Given the description of an element on the screen output the (x, y) to click on. 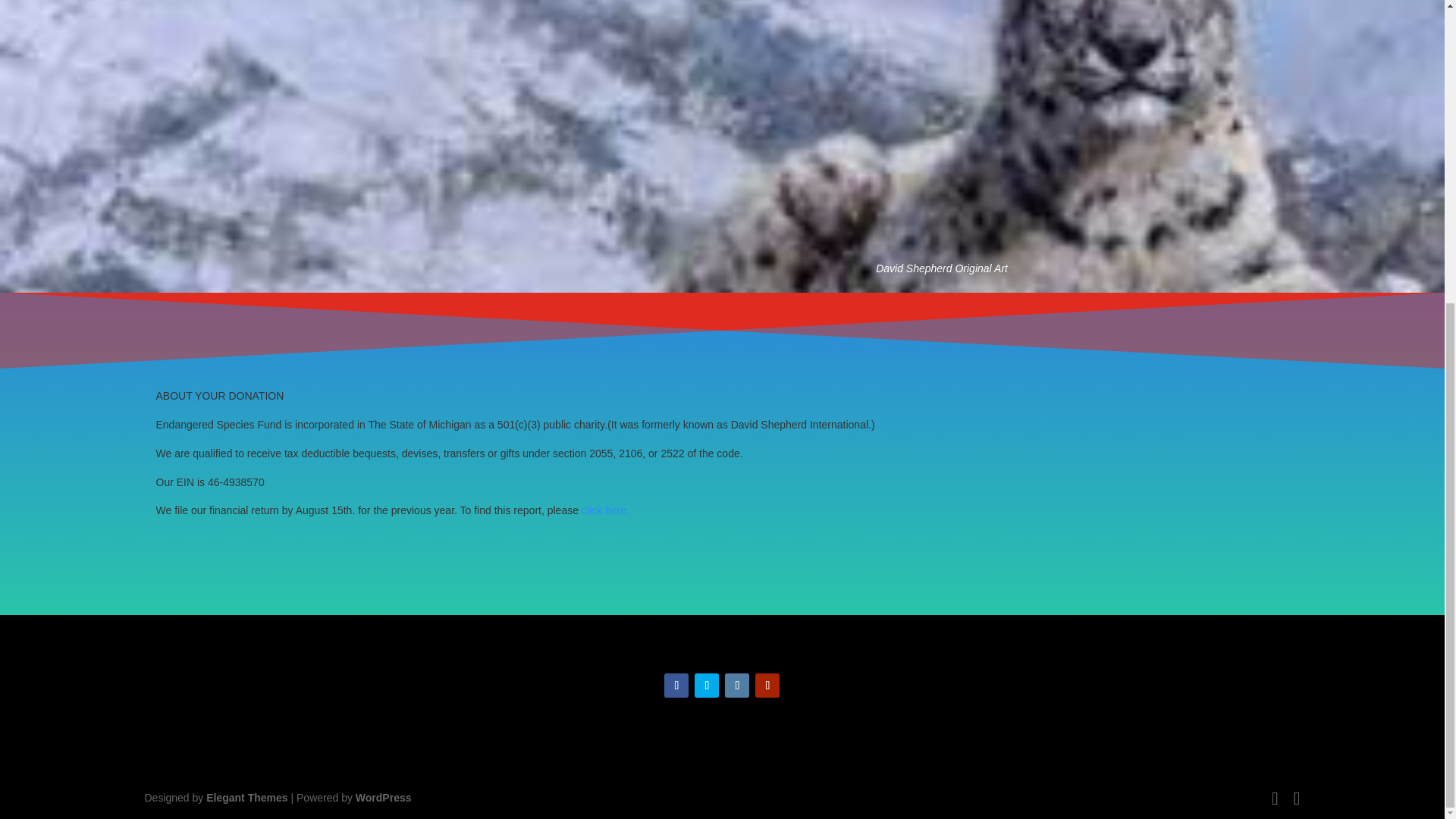
Follow on Facebook (675, 685)
Follow on Youtube (766, 685)
Elegant Themes (246, 797)
David Shepherd Original Art (941, 268)
Guidestar (604, 510)
Follow on Twitter (706, 685)
WordPress (383, 797)
click here. (604, 510)
Premium WordPress Themes (246, 797)
Follow on Instagram (737, 685)
